Given the description of an element on the screen output the (x, y) to click on. 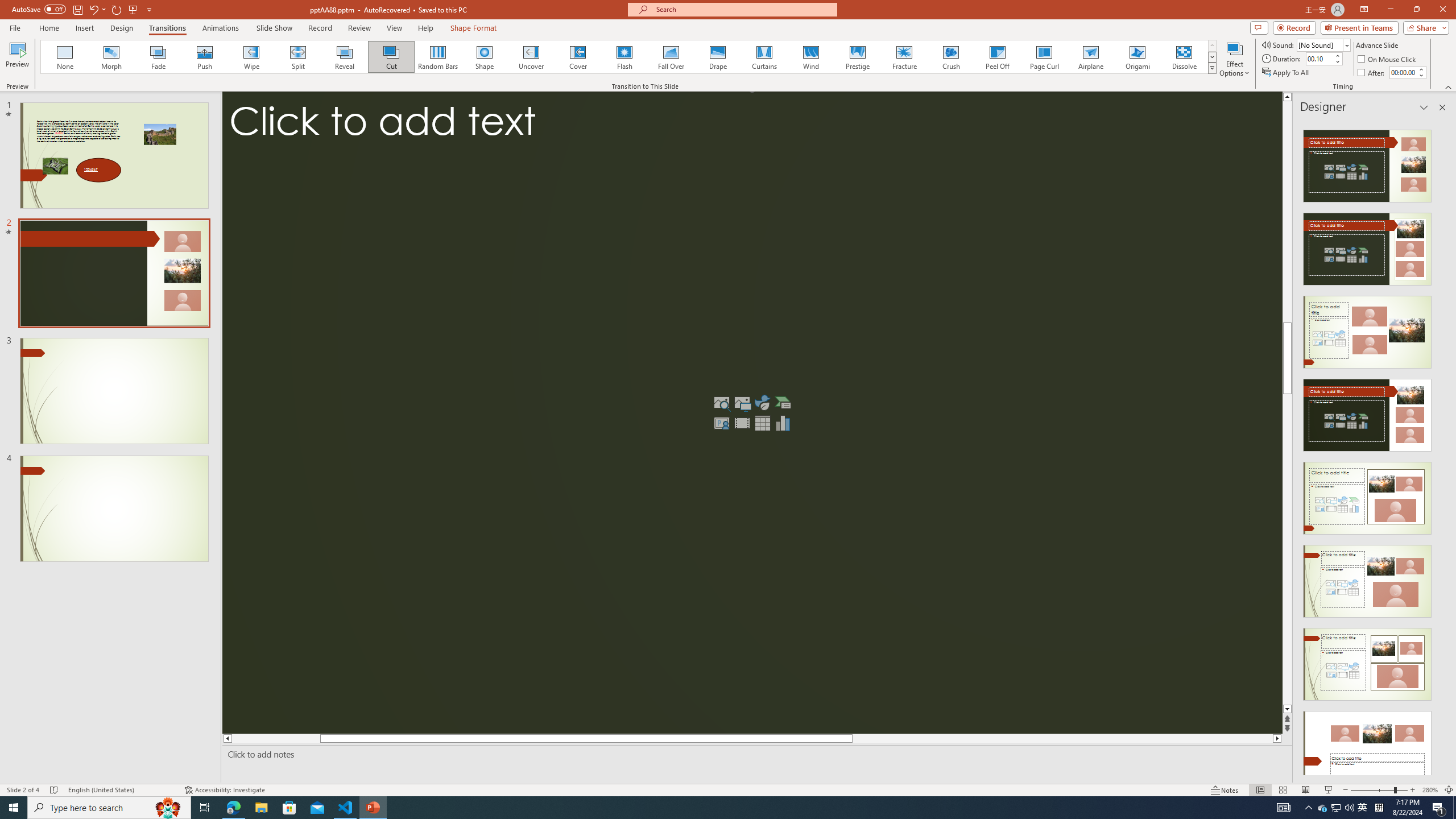
Crush (950, 56)
After (1403, 72)
Duration (1319, 58)
Zoom 280% (1430, 790)
Insert Table (762, 423)
Effect Options (1234, 58)
Fall Over (670, 56)
